Given the description of an element on the screen output the (x, y) to click on. 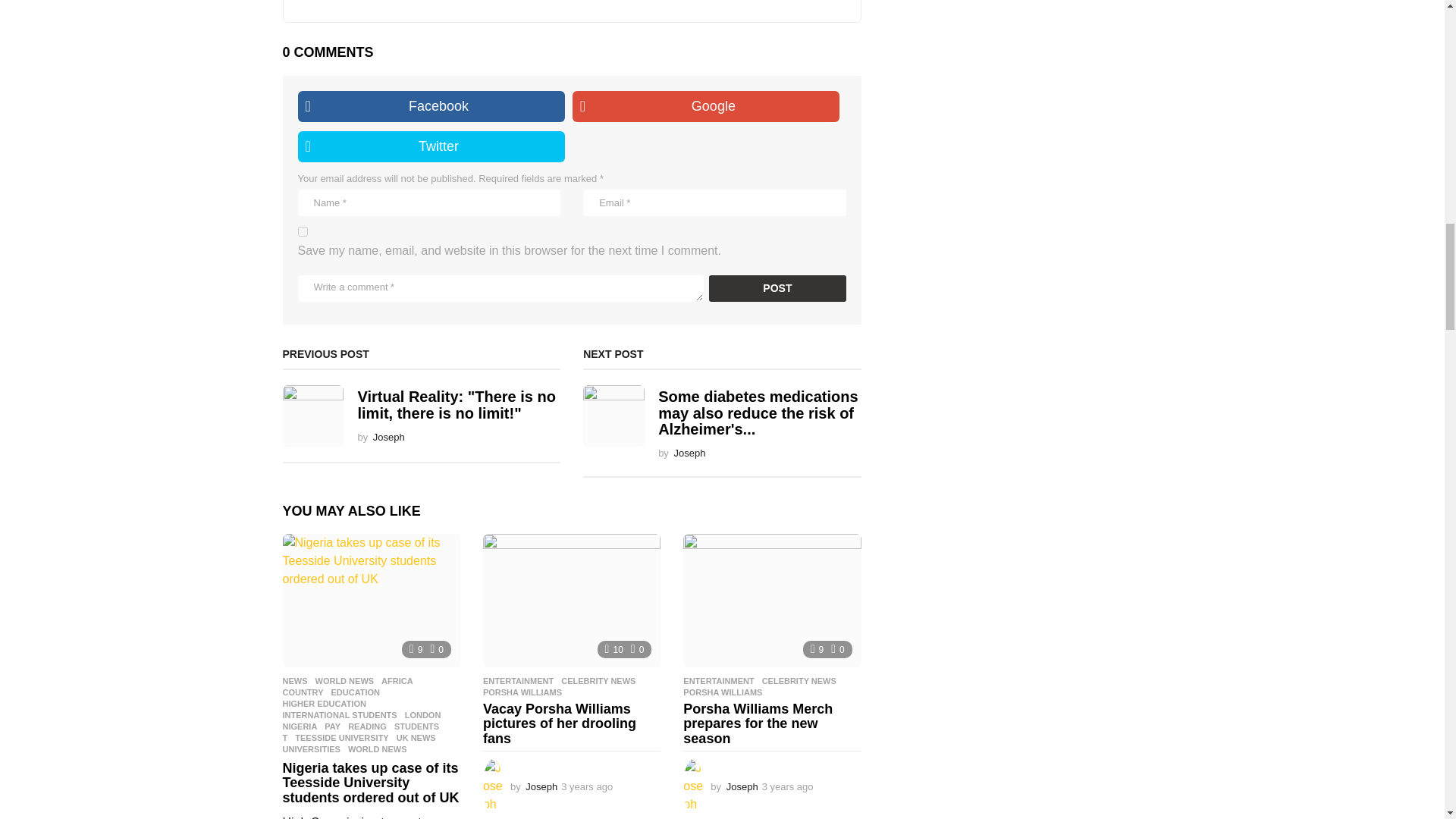
Vacay Porsha Williams pictures of her drooling fans (572, 600)
Post (777, 288)
yes (302, 231)
Porsha Williams Merch prepares for the new season (771, 600)
